Given the description of an element on the screen output the (x, y) to click on. 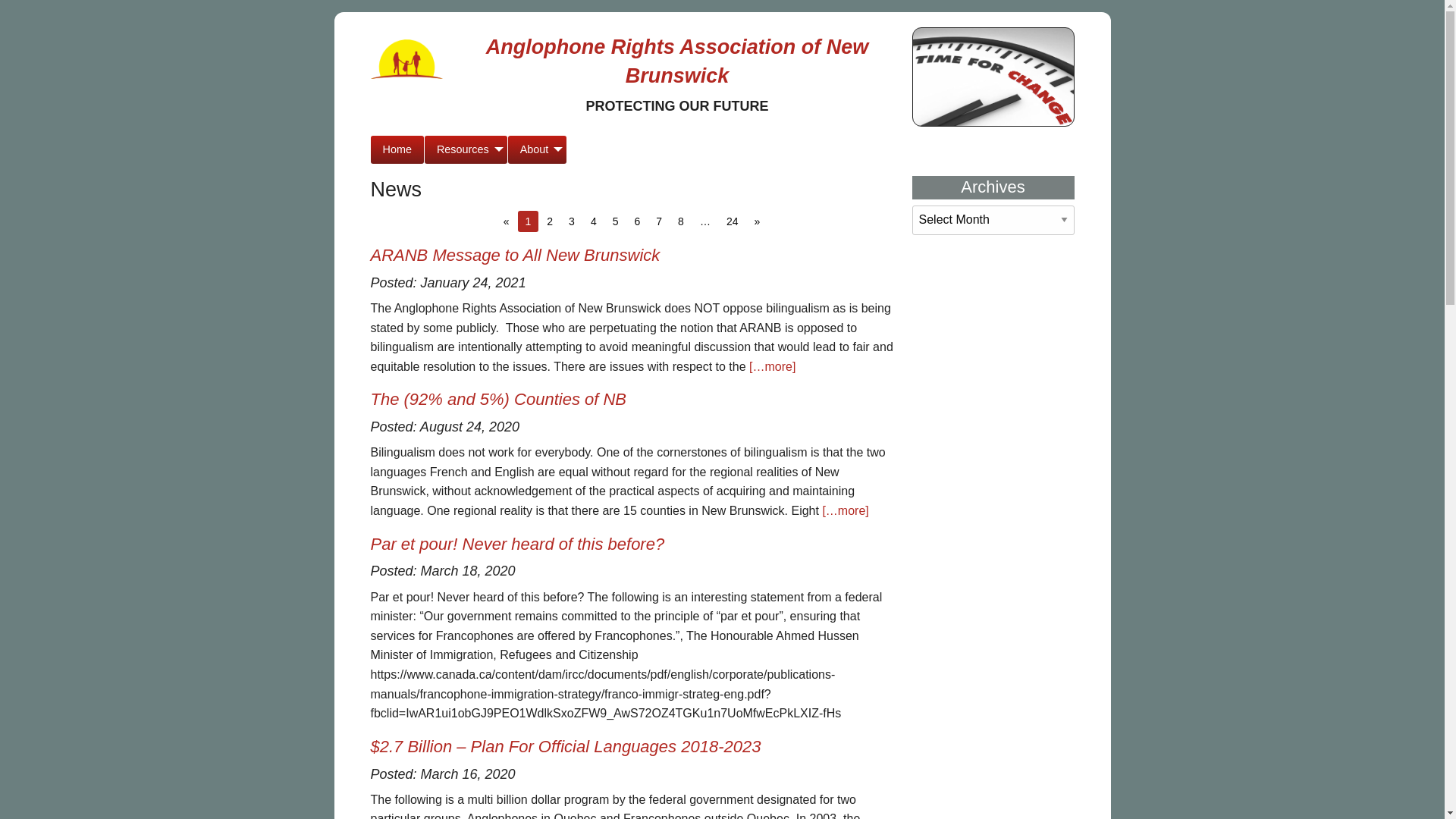
Par et pour! Never heard of this before? Element type: text (517, 543)
24 Element type: text (732, 221)
Anglophone Rights Association of New Brunswick Element type: text (677, 61)
1 Element type: text (528, 221)
2 Element type: text (549, 221)
The (92% and 5%) Counties of NB Element type: text (498, 398)
4 Element type: text (593, 221)
6 Element type: text (636, 221)
ARANB Message to All New Brunswick Element type: text (514, 254)
3 Element type: text (571, 221)
Resources Element type: text (465, 149)
8 Element type: text (680, 221)
Home Element type: text (396, 149)
5 Element type: text (615, 221)
7 Element type: text (658, 221)
About Element type: text (537, 149)
